Given the description of an element on the screen output the (x, y) to click on. 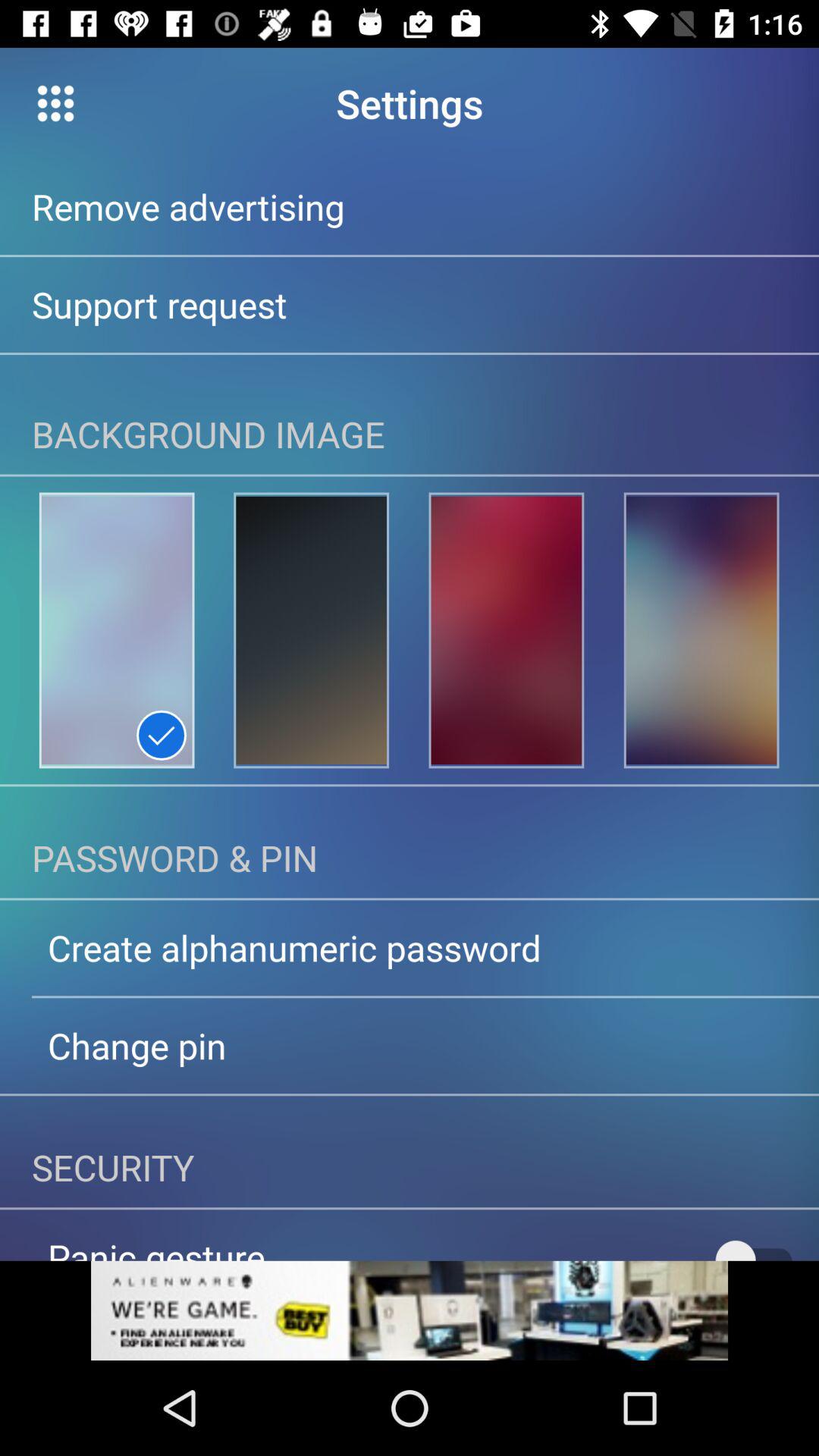
view video gallery (55, 103)
